Given the description of an element on the screen output the (x, y) to click on. 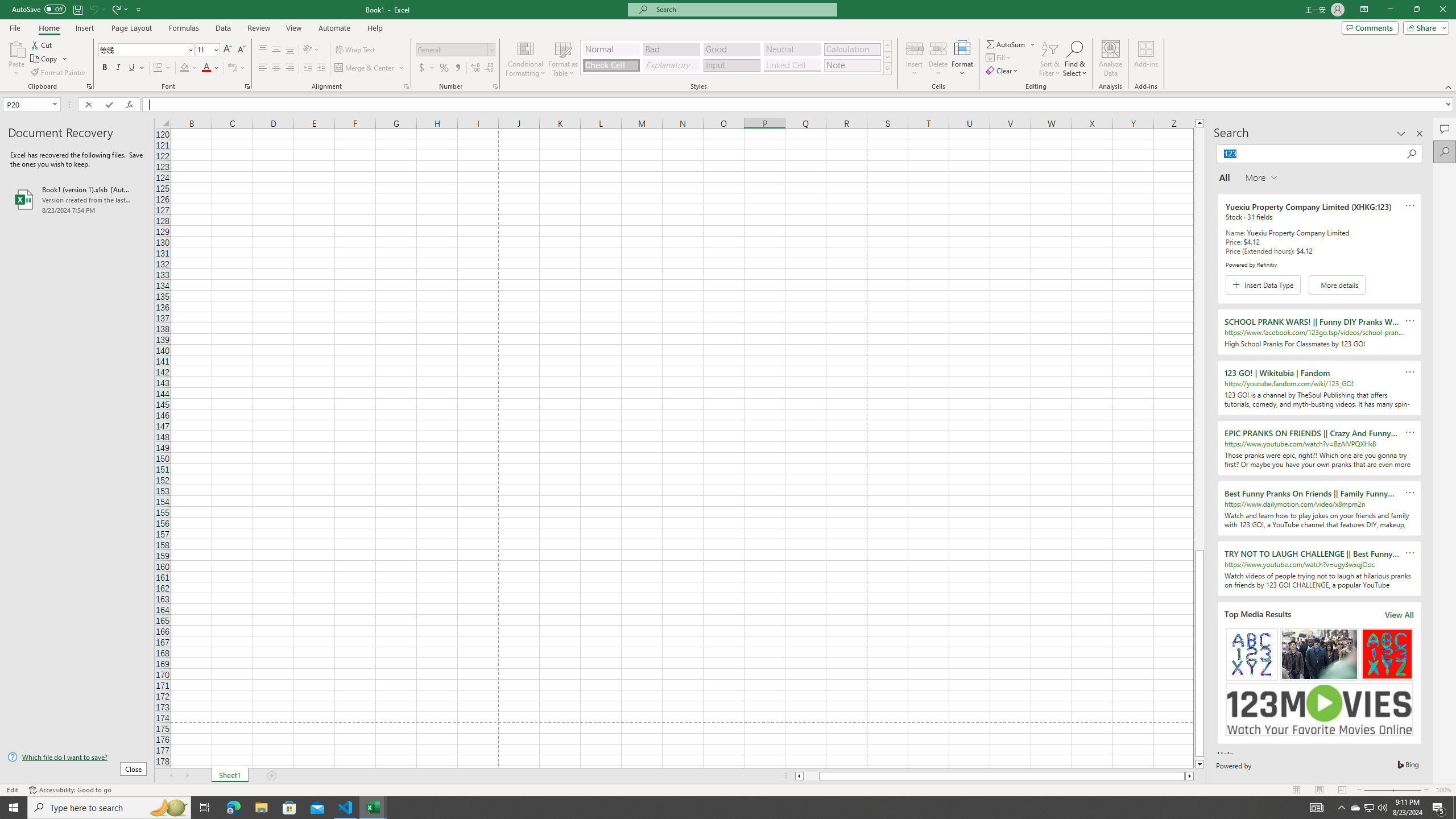
Delete (938, 58)
Find & Select (1075, 58)
Increase Decimal (474, 67)
Fill Color RGB(255, 255, 0) (183, 67)
Font (142, 49)
Font Color (210, 67)
Font Size (204, 49)
Format Cell Number (494, 85)
Page up (1199, 338)
Page left (810, 775)
